Given the description of an element on the screen output the (x, y) to click on. 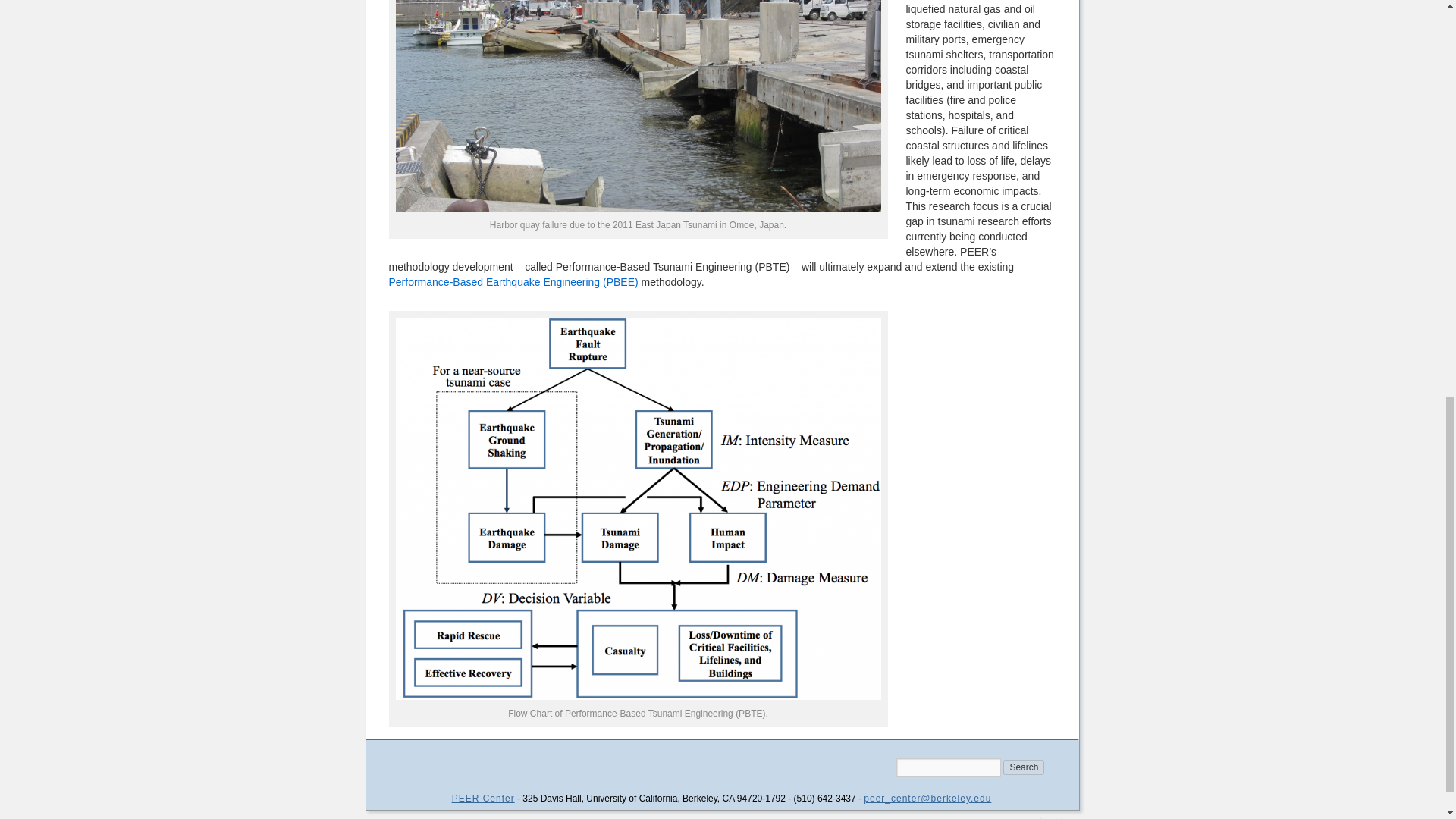
PEER Center (483, 798)
Search (1023, 767)
Search (1023, 767)
